Given the description of an element on the screen output the (x, y) to click on. 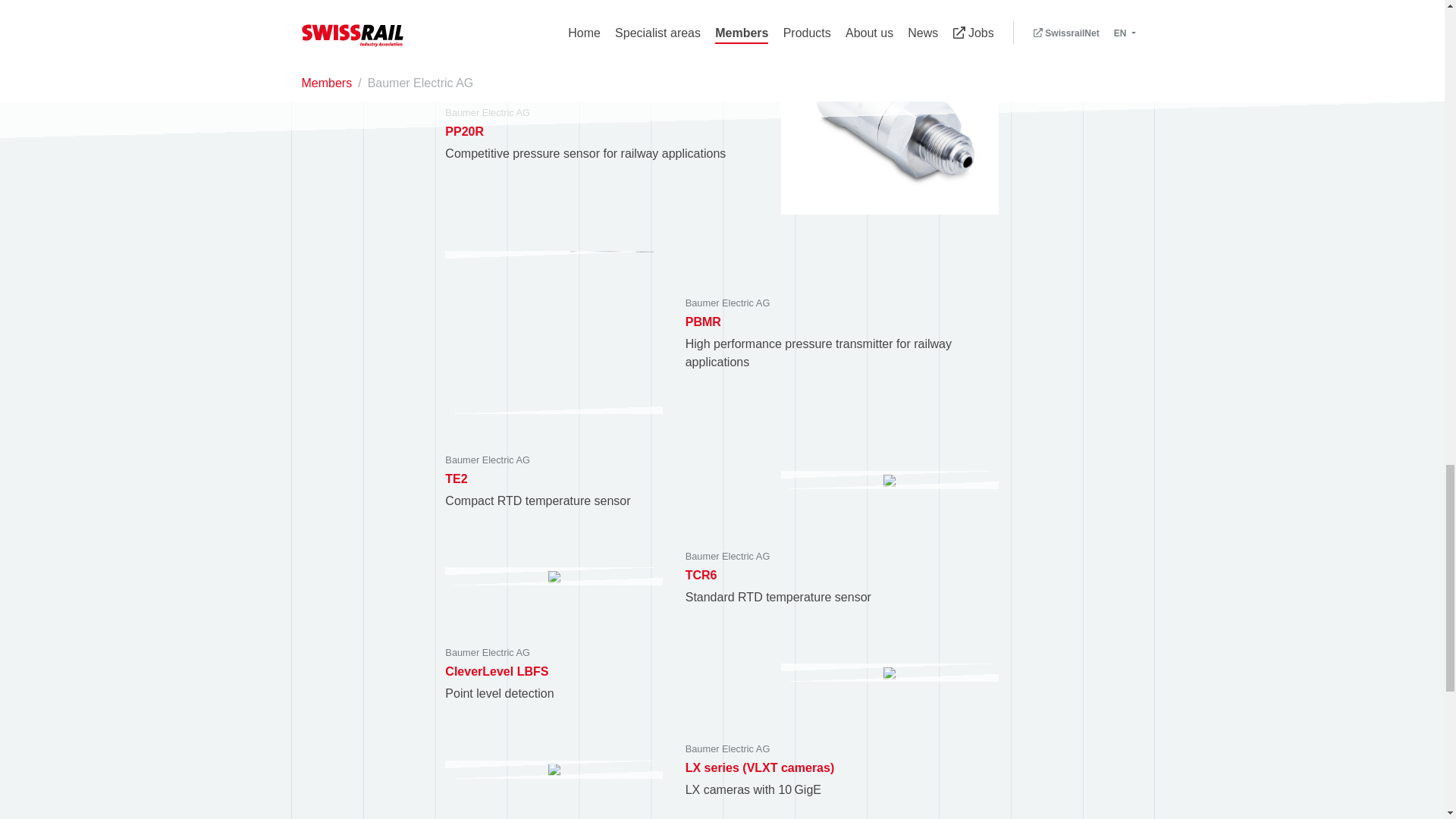
PP20R (464, 131)
TCR6 (701, 574)
TE2 (456, 477)
CleverLevel LBFS (496, 671)
PBMR (702, 321)
